Given the description of an element on the screen output the (x, y) to click on. 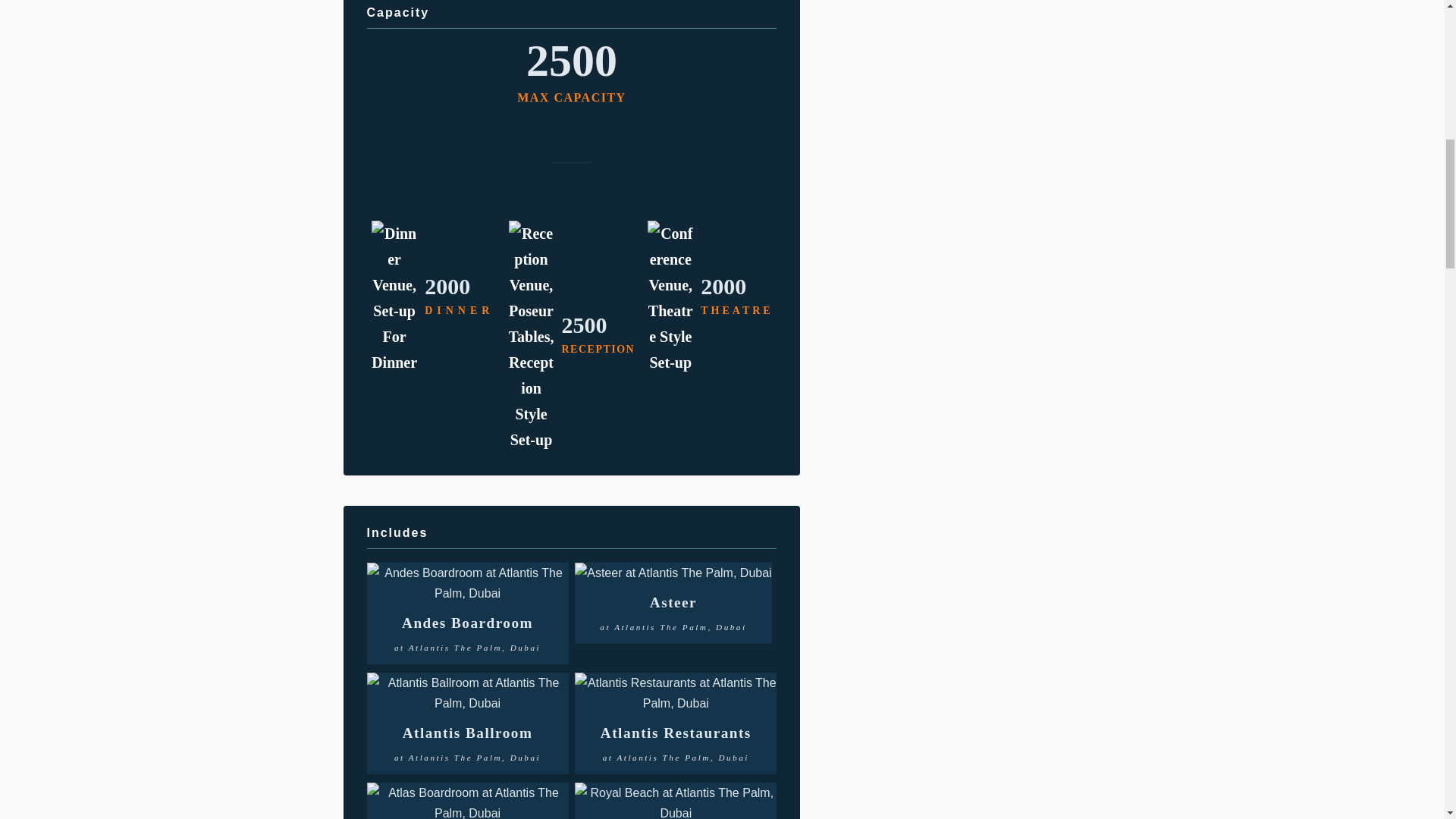
Venue Set-up In Reception Style with Poseur Tables (530, 336)
Dinner Venue, Set-up For Dinner (393, 297)
